Given the description of an element on the screen output the (x, y) to click on. 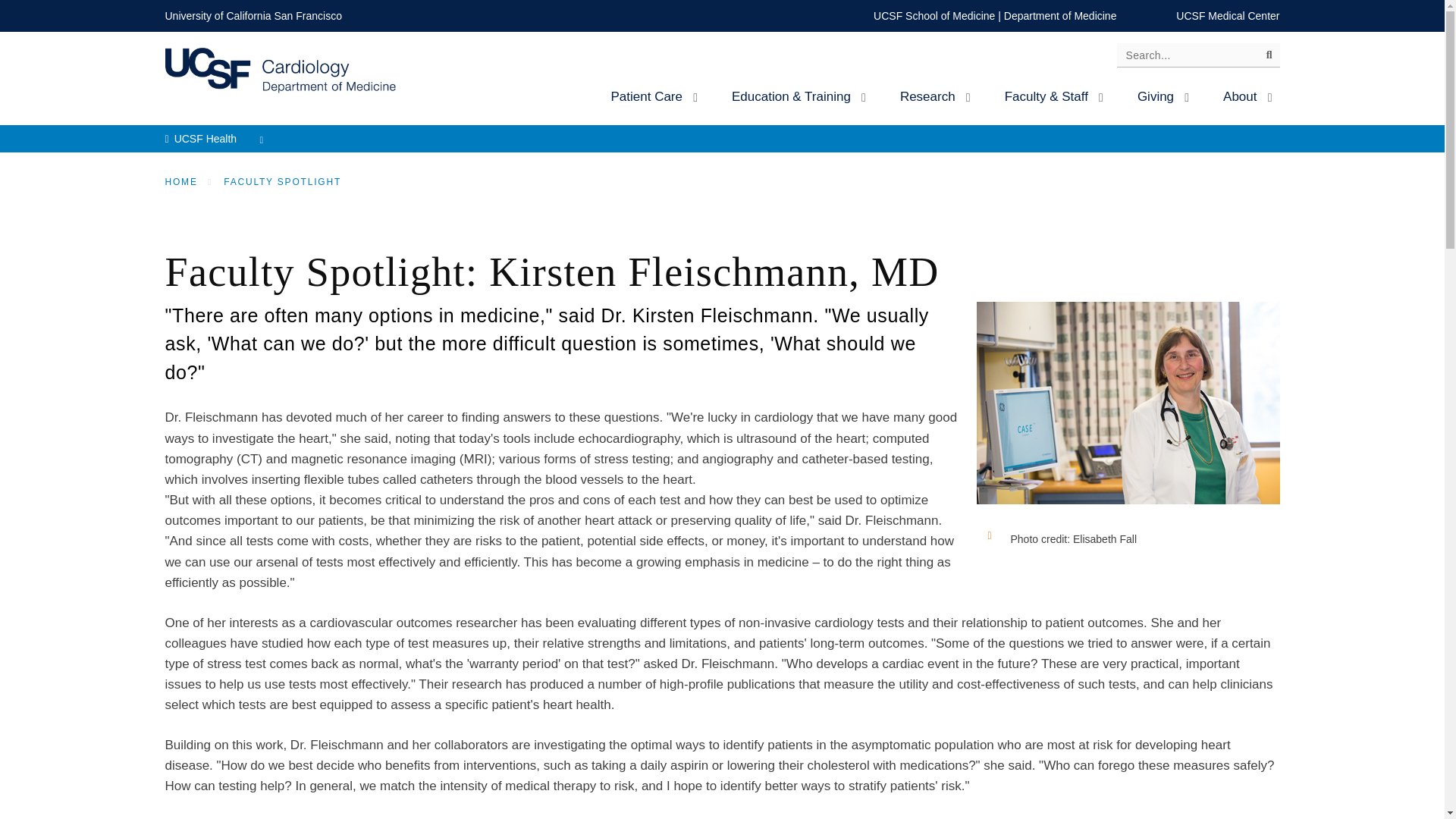
Research (933, 96)
University of California San Francisco (253, 15)
About (1245, 96)
Department of Medicine (1060, 15)
UCSF Medical Center (1227, 15)
Patient Care (651, 96)
UCSF School of Medicine (933, 15)
SEARCH (1262, 57)
Giving (1160, 96)
